Given the description of an element on the screen output the (x, y) to click on. 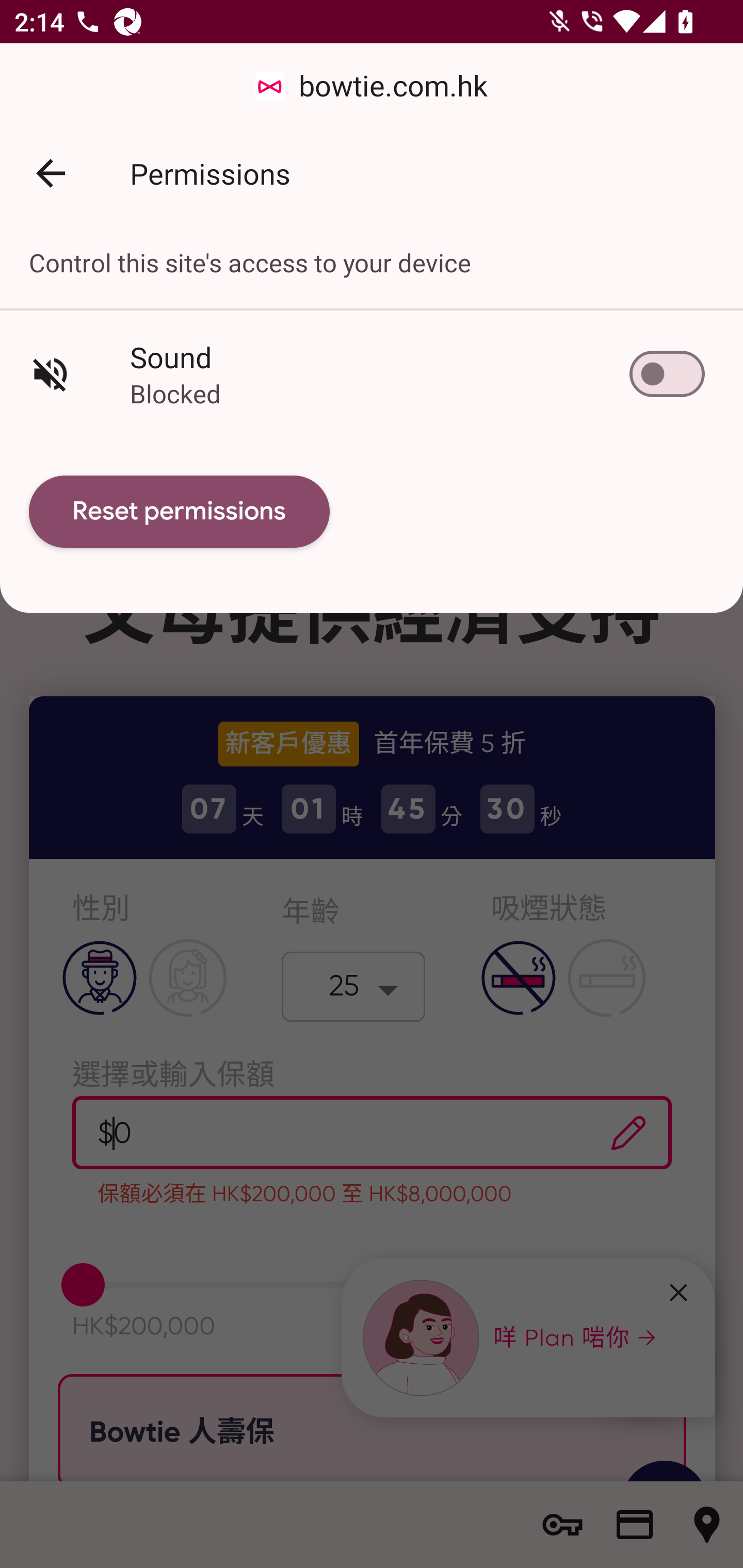
bowtie.com.hk (371, 86)
Back (50, 173)
Sound Blocked (371, 373)
Reset permissions (178, 511)
